Given the description of an element on the screen output the (x, y) to click on. 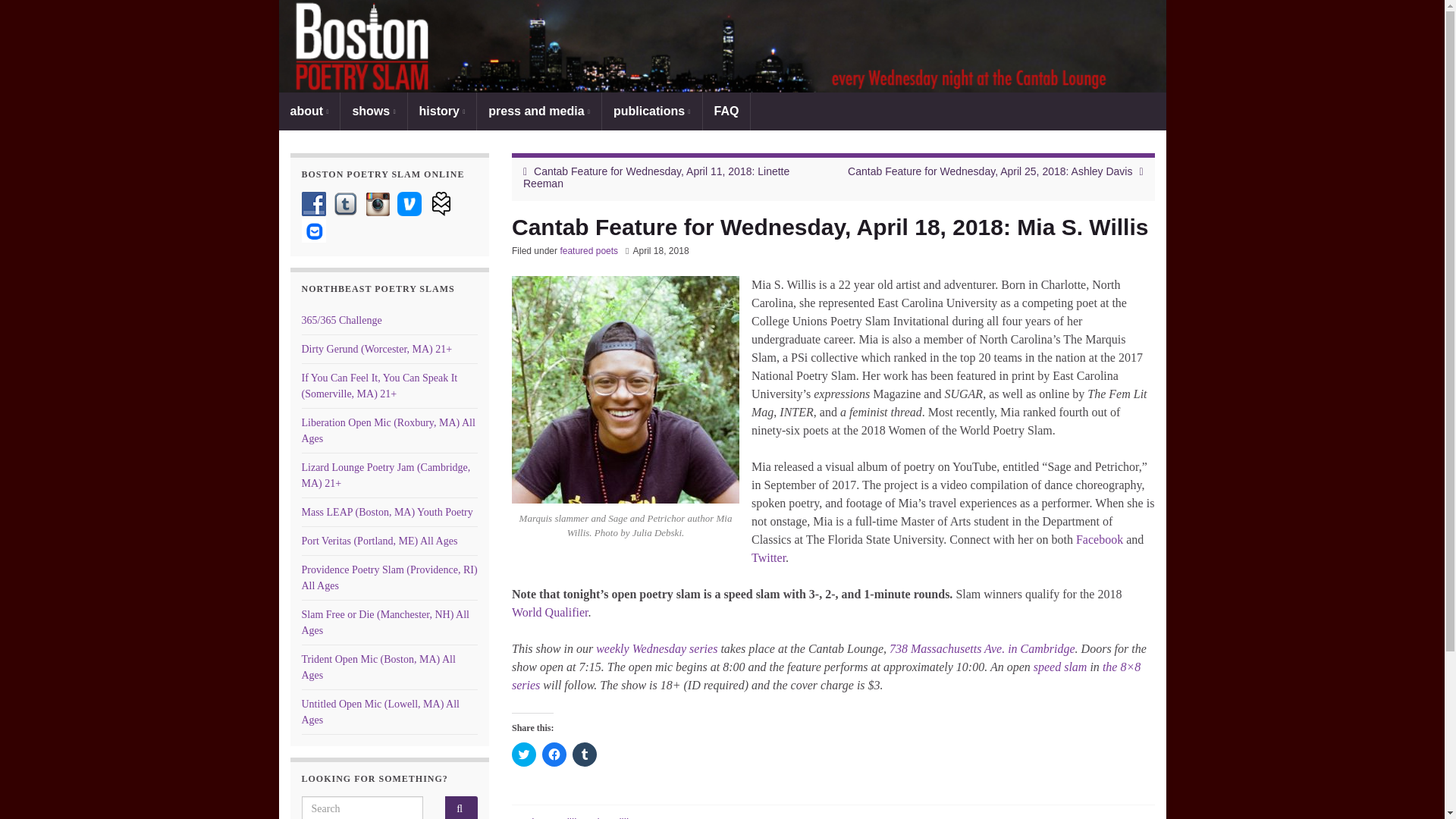
 Current Newsletter! (313, 230)
shows (373, 111)
 Venmo (409, 203)
Wednesdays at the Cantab: Boston Poetry Slam (656, 648)
about (309, 111)
Click to share on Facebook (553, 754)
2018-04-18T00:01:34-04:00 (659, 250)
Click to share on Twitter (523, 754)
 Tumblr (345, 203)
history (442, 111)
 Instagram (377, 203)
directions to the Cantab (982, 648)
 Facebook (313, 203)
Click to share on Tumblr (584, 754)
